Given the description of an element on the screen output the (x, y) to click on. 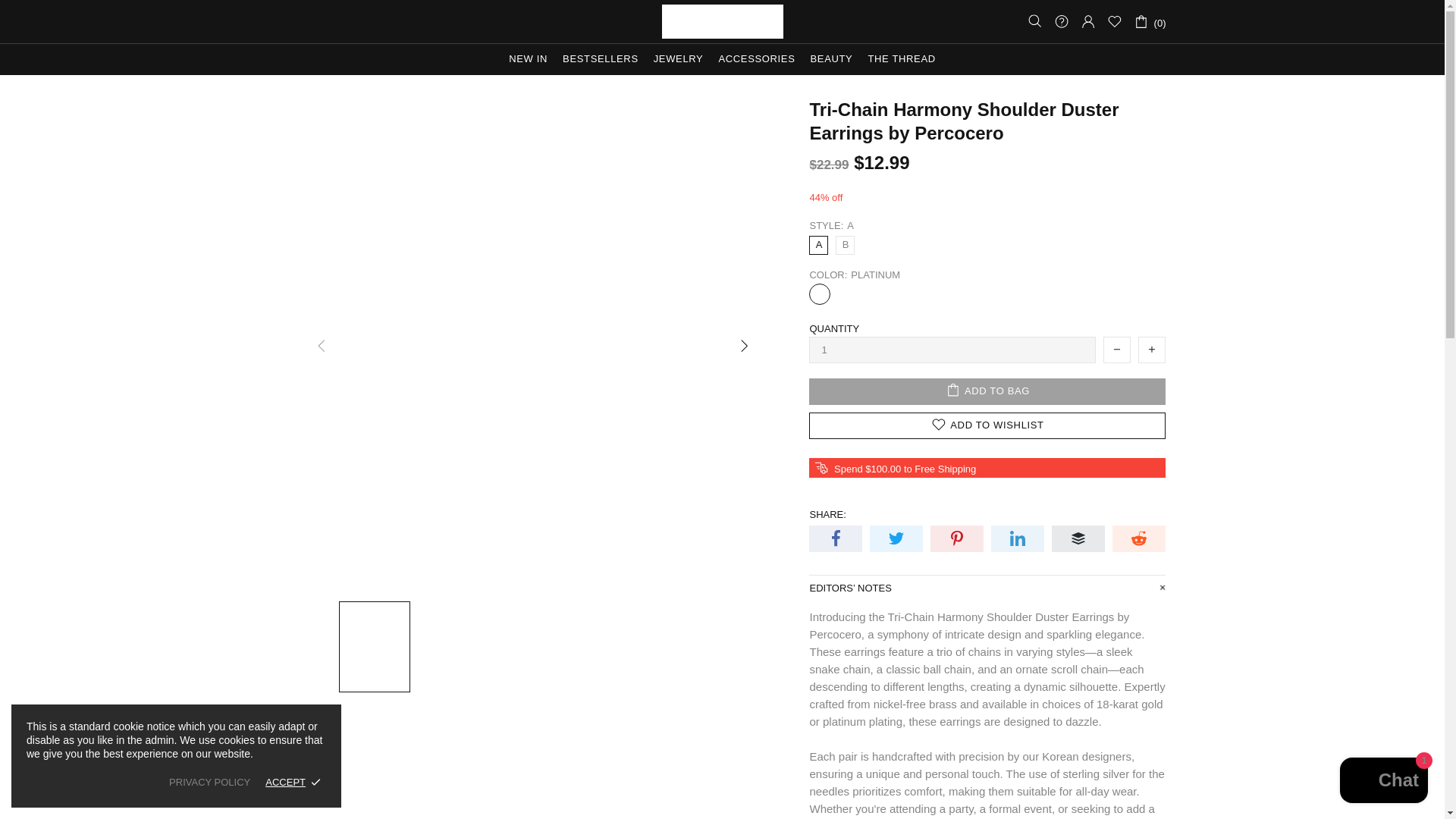
JEWELRY (678, 59)
BESTSELLERS (600, 59)
NEW IN (527, 59)
ACCESSORIES (756, 59)
ADD TO WISHLIST (987, 425)
Percocero (722, 21)
ADD TO BAG (987, 391)
BEAUTY (831, 59)
THE THREAD (901, 59)
1 (952, 349)
Shopify online store chat (1383, 781)
